Given the description of an element on the screen output the (x, y) to click on. 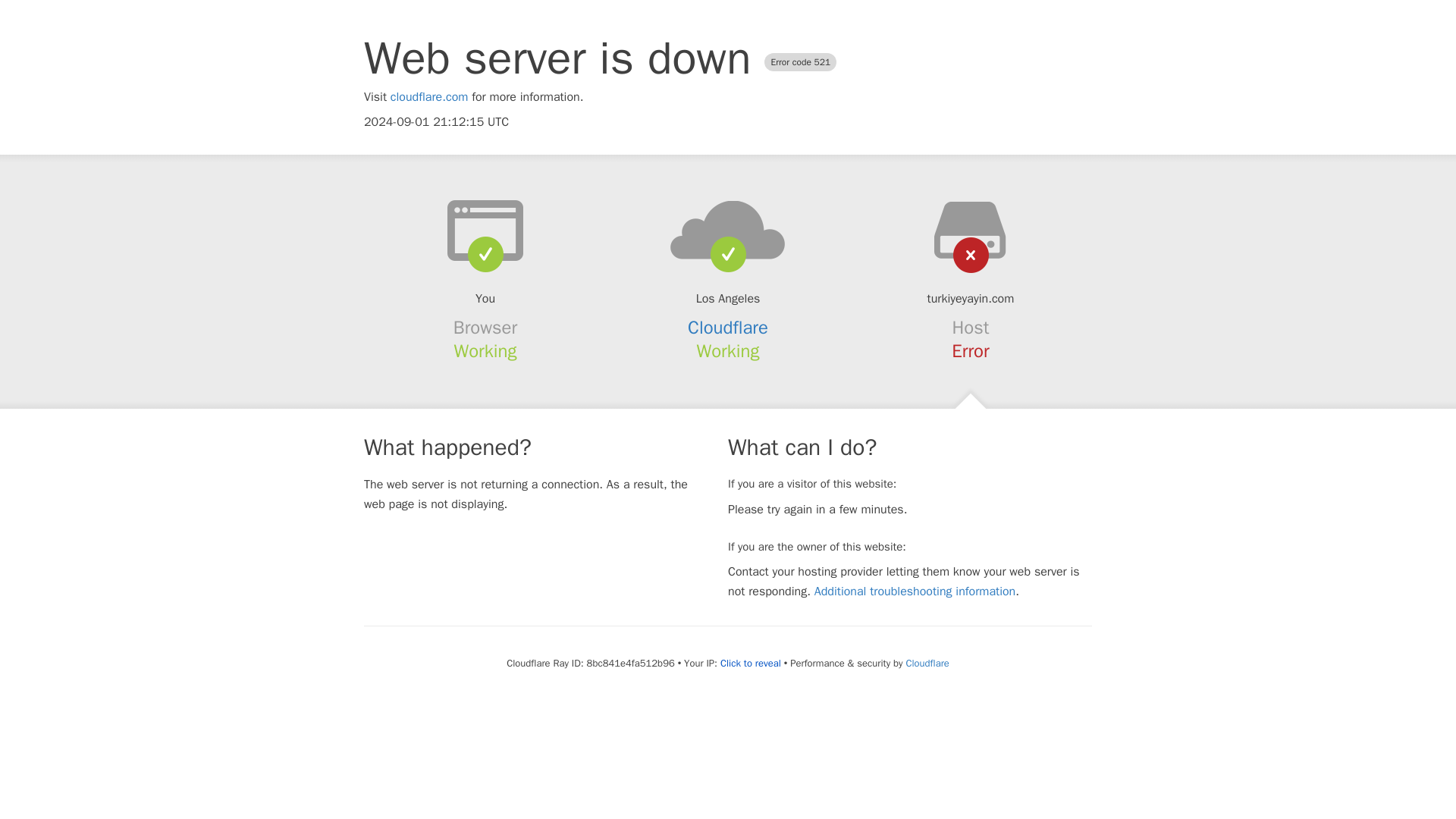
Additional troubleshooting information (913, 590)
Cloudflare (927, 662)
Click to reveal (750, 663)
Cloudflare (727, 327)
cloudflare.com (429, 96)
